Given the description of an element on the screen output the (x, y) to click on. 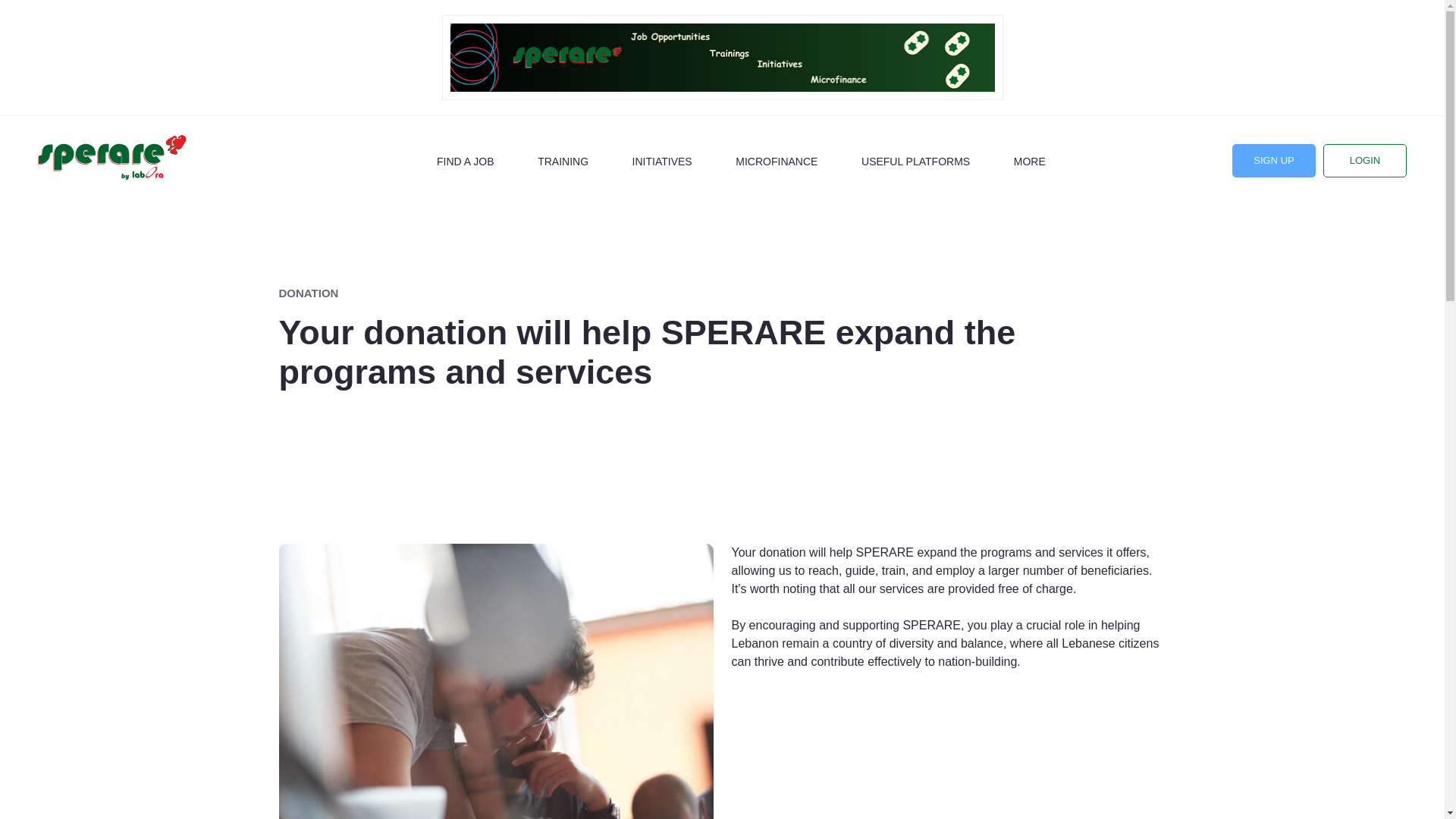
USEFUL PLATFORMS (915, 159)
Donation (496, 681)
INITIATIVES (662, 159)
MICROFINANCE (775, 159)
TRAINING (562, 159)
FIND A JOB (464, 159)
MORE (1038, 159)
LOGIN (1364, 160)
SIGN UP (1273, 160)
